Given the description of an element on the screen output the (x, y) to click on. 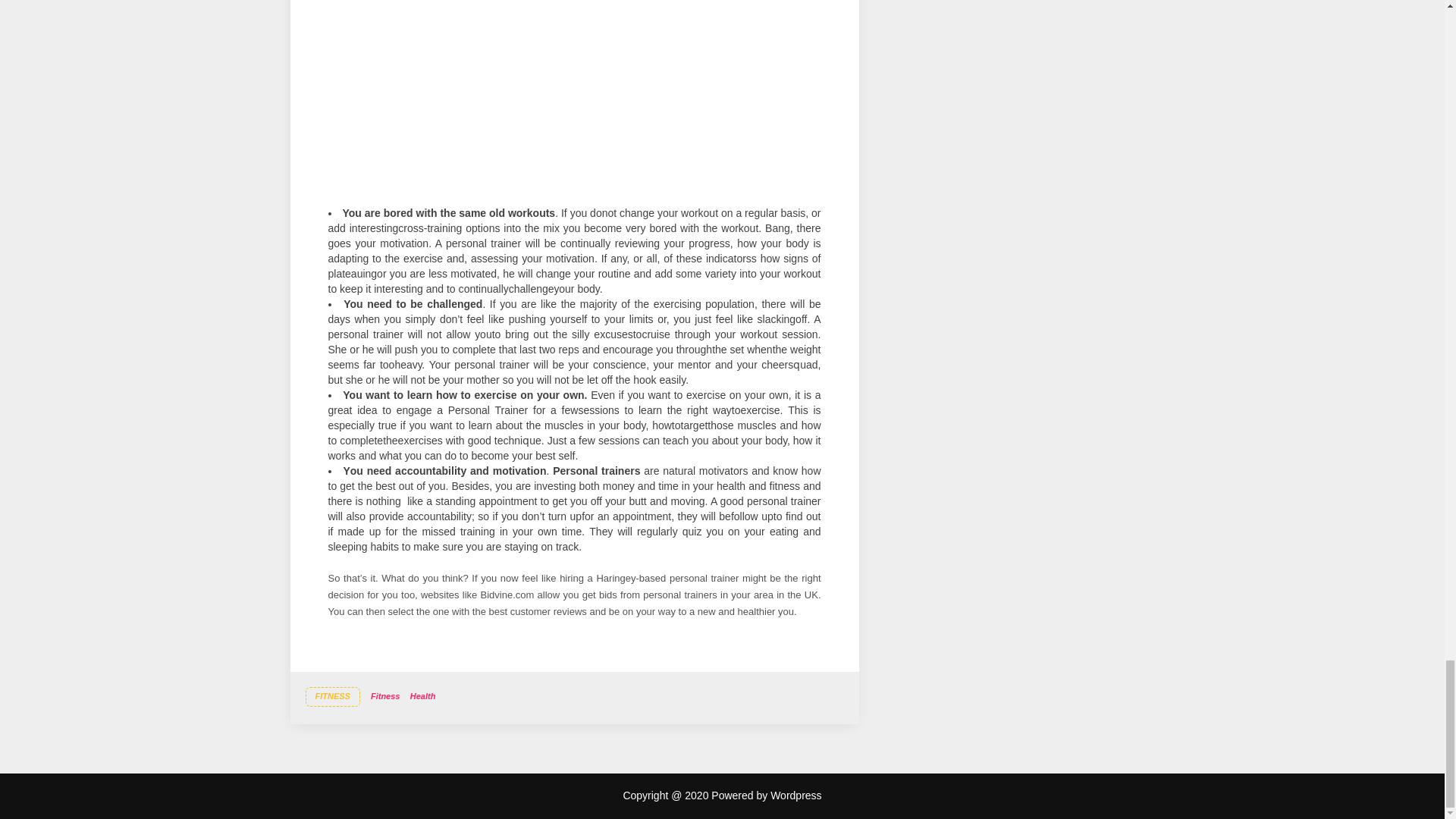
Fitness (385, 696)
Health (423, 696)
FITNESS (331, 696)
